Given the description of an element on the screen output the (x, y) to click on. 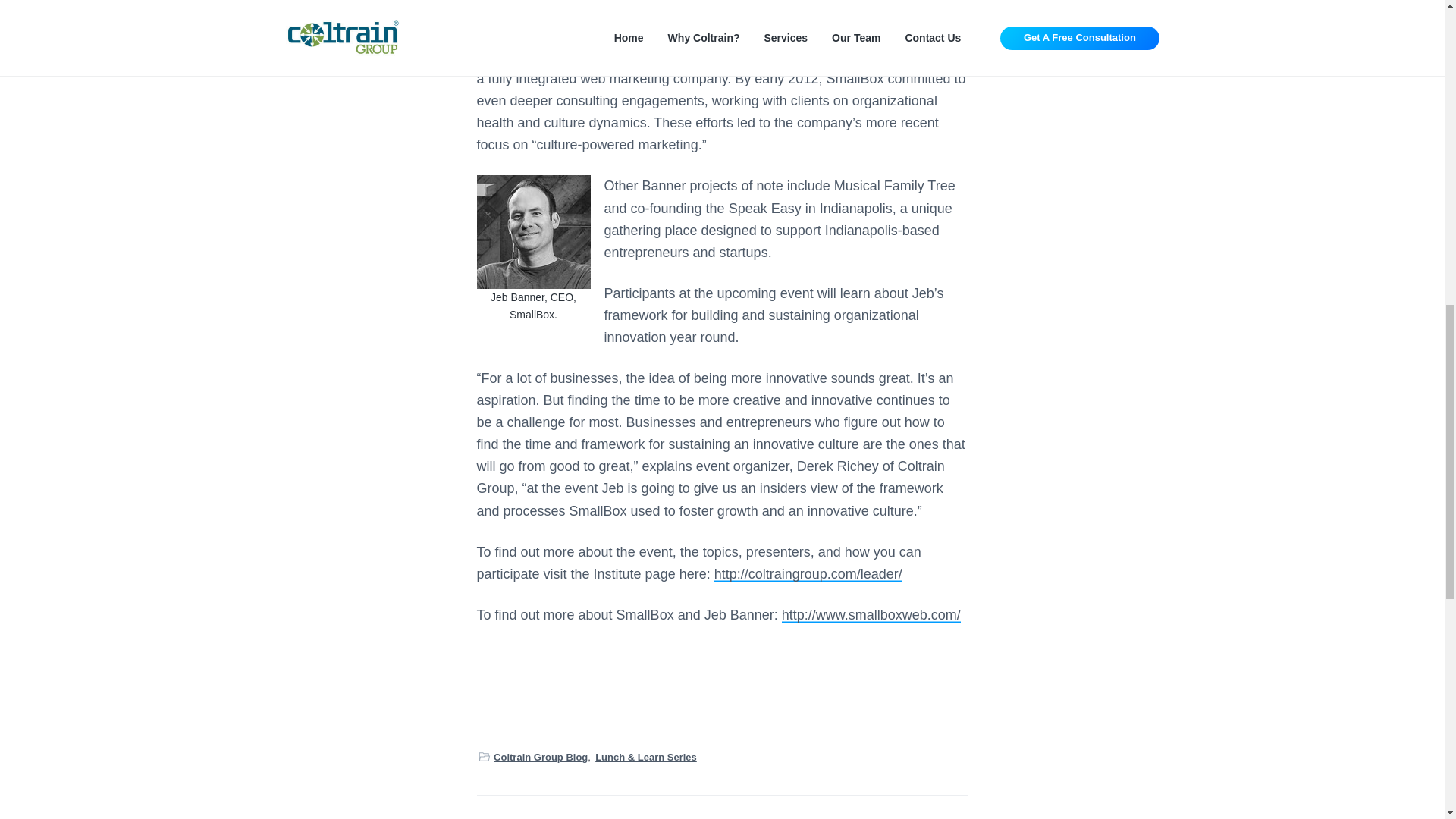
Coltrain Group Blog (540, 756)
